Given the description of an element on the screen output the (x, y) to click on. 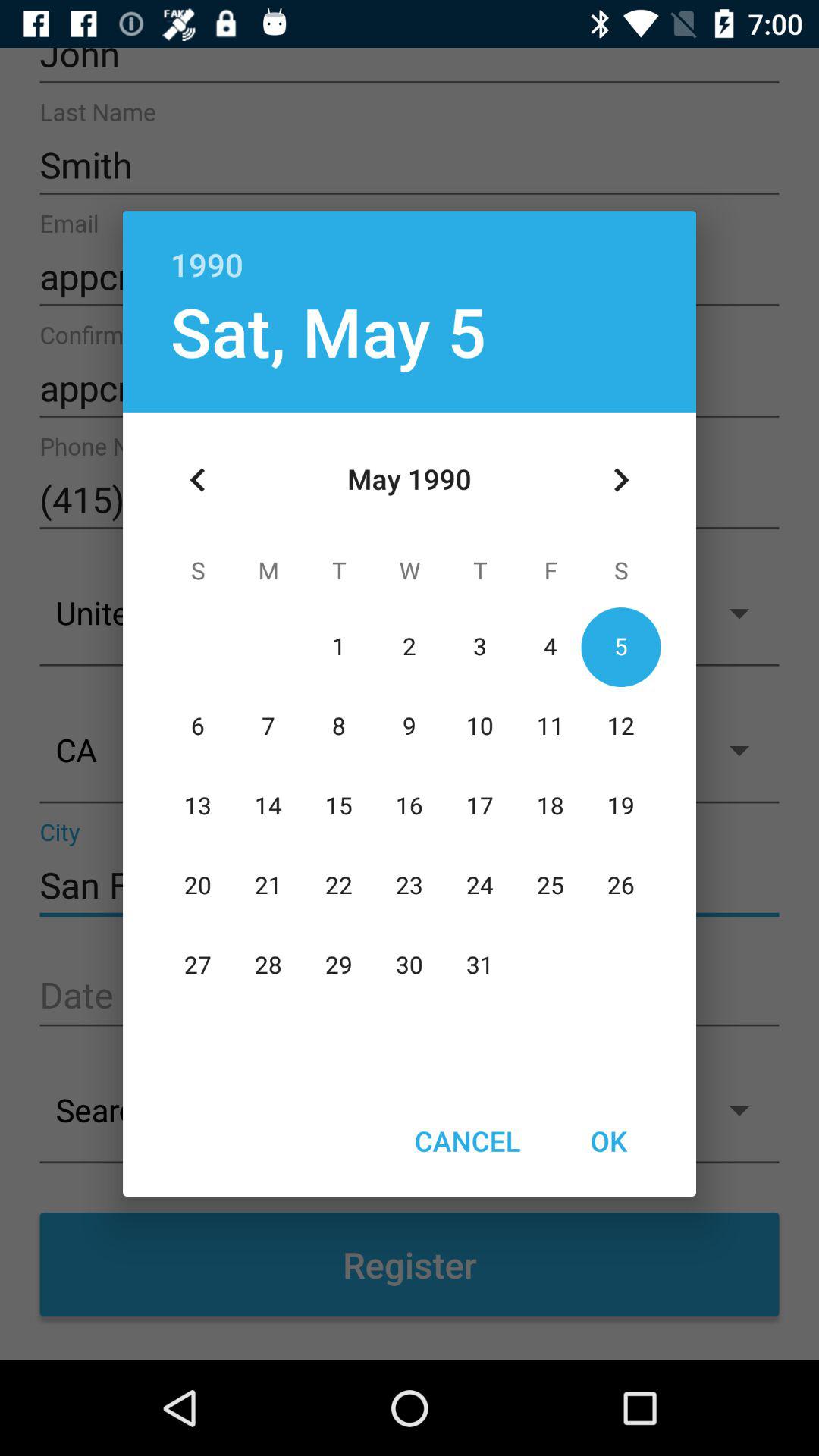
launch the item at the top right corner (620, 479)
